Given the description of an element on the screen output the (x, y) to click on. 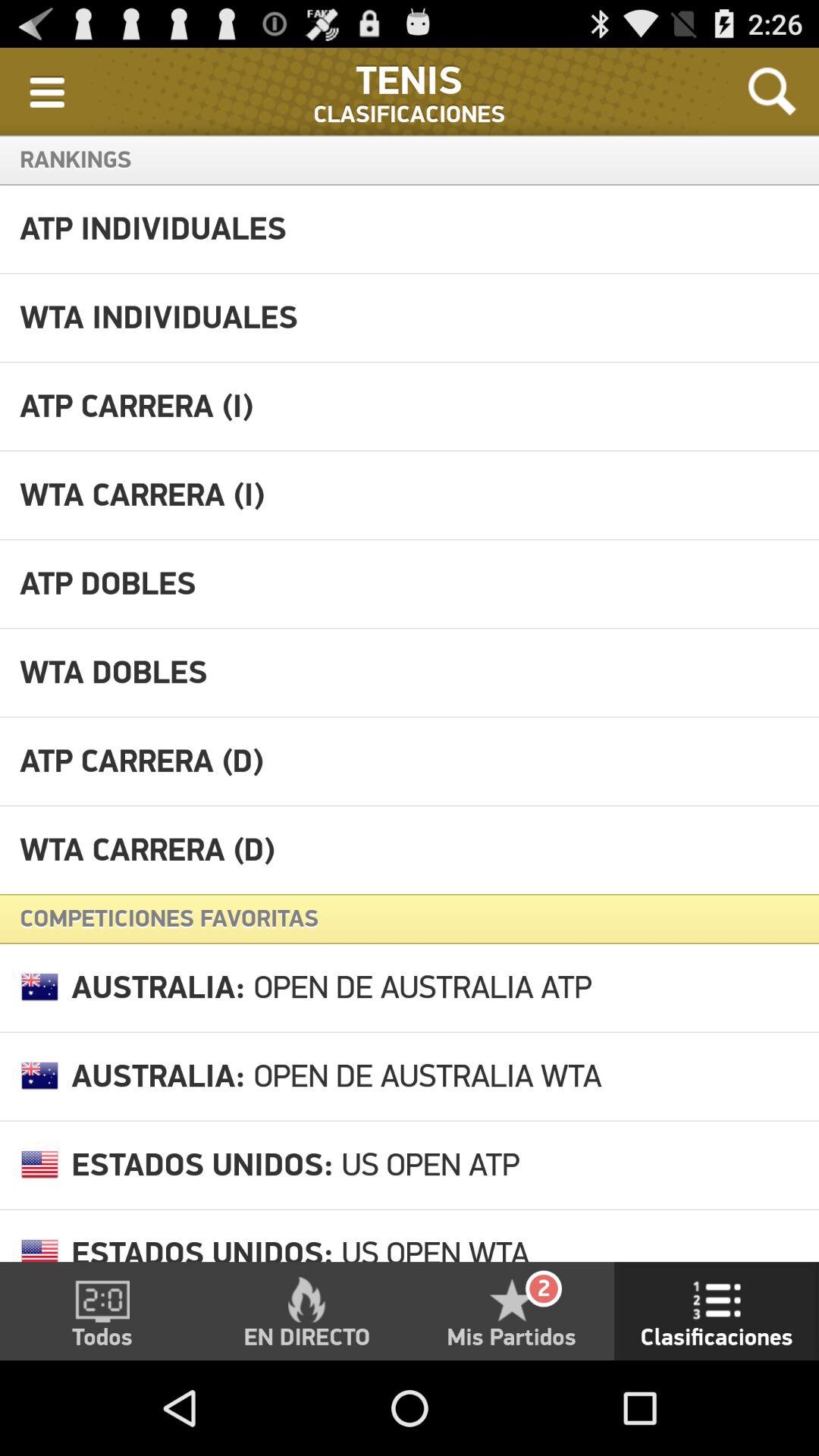
turn on icon at the top right corner (772, 91)
